Given the description of an element on the screen output the (x, y) to click on. 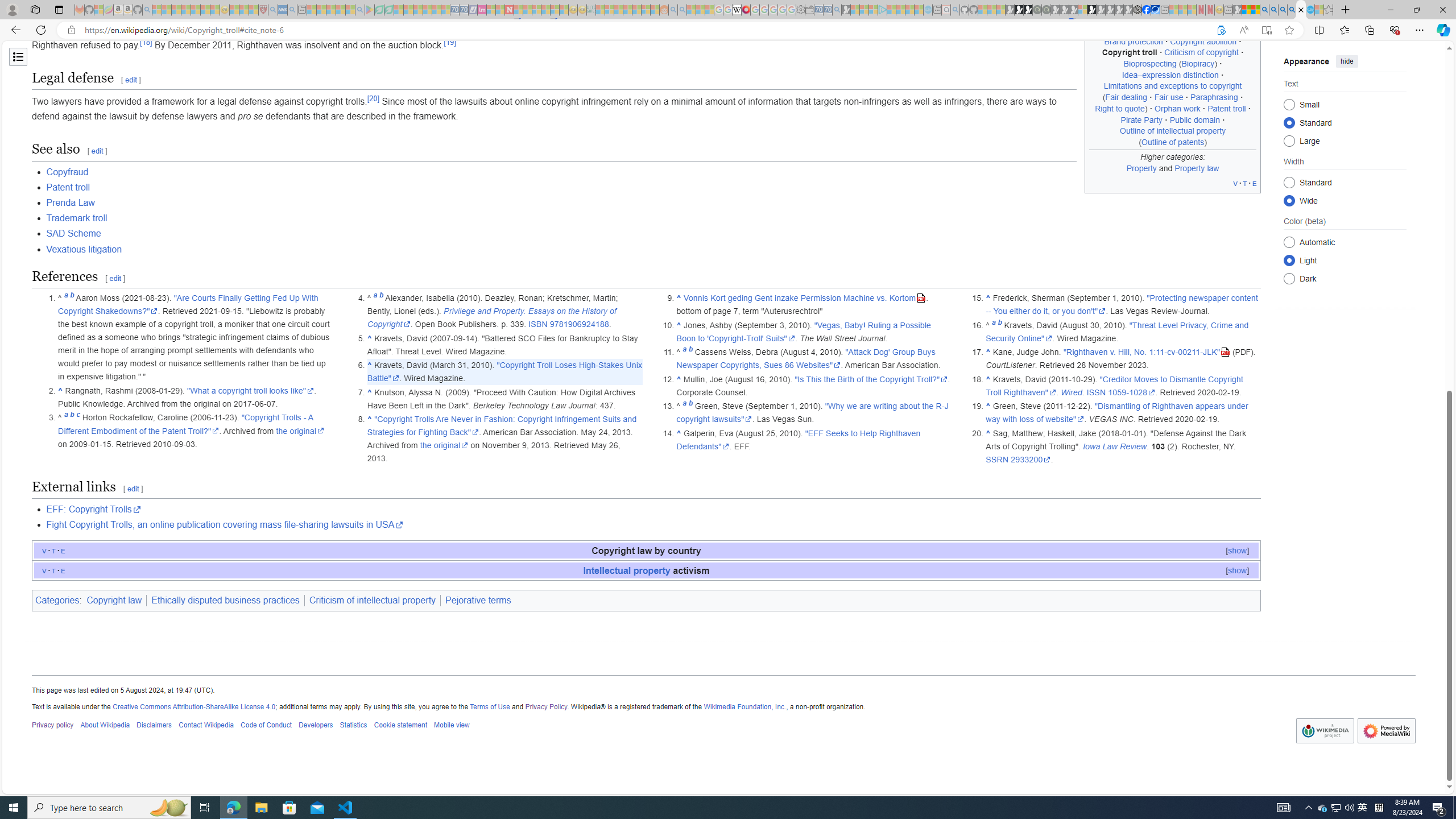
Small (1289, 104)
(Outline of patents) (1172, 141)
